Given the description of an element on the screen output the (x, y) to click on. 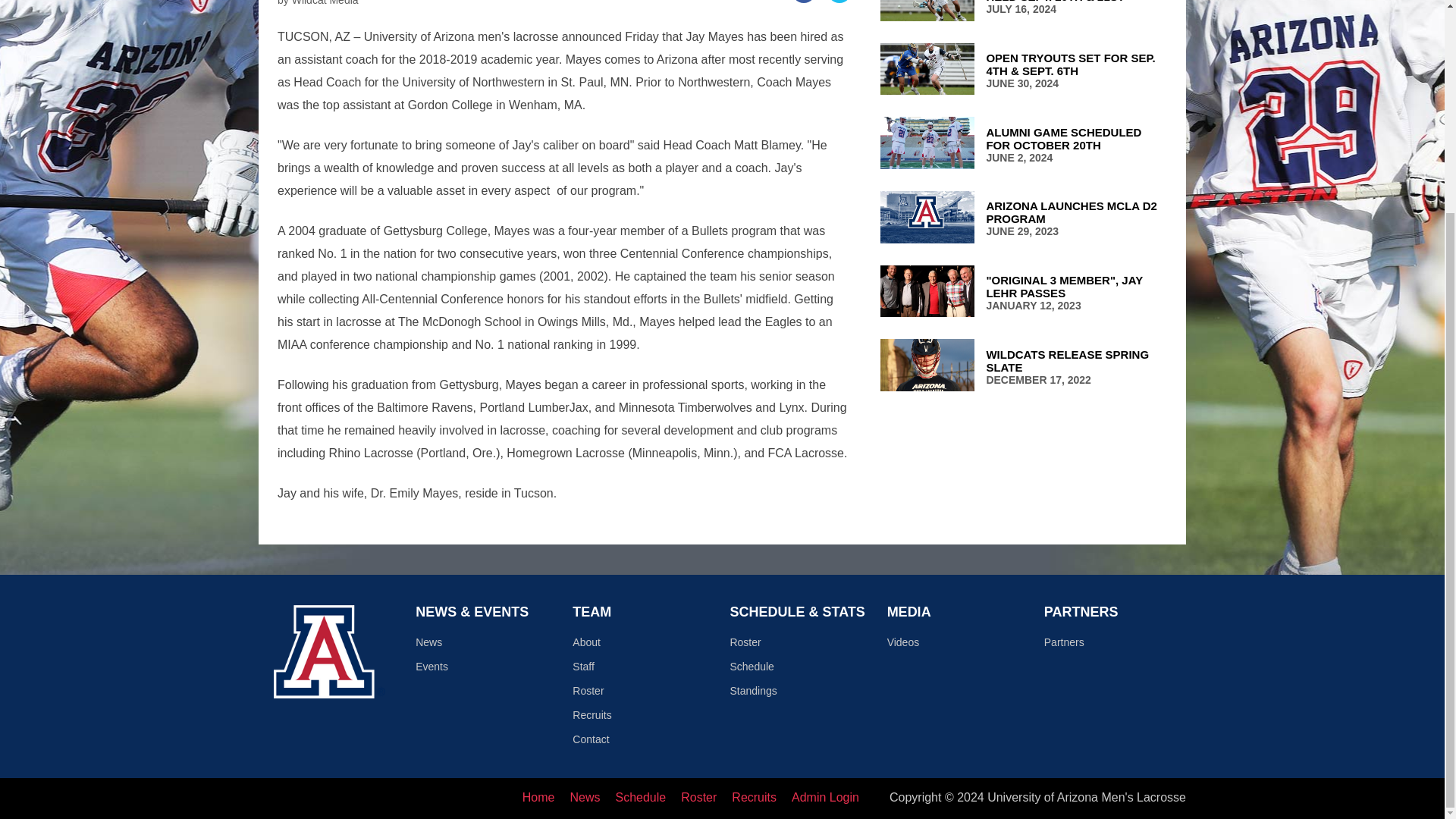
Roster (1023, 144)
Recruits (1023, 366)
News (698, 797)
Powered by LacrosseShift (754, 797)
Home (1023, 218)
News (584, 797)
